Given the description of an element on the screen output the (x, y) to click on. 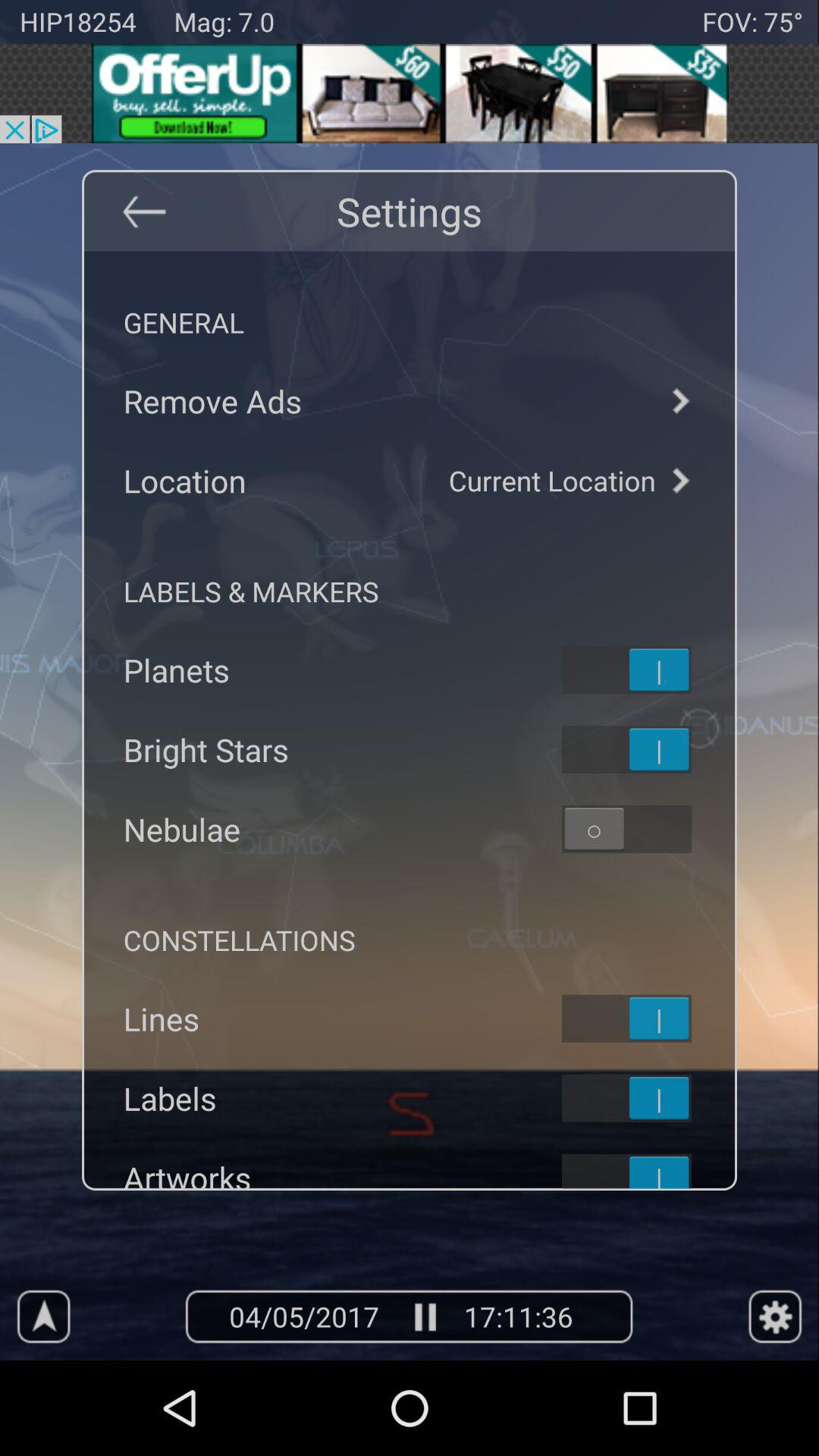
on-of (646, 669)
